Given the description of an element on the screen output the (x, y) to click on. 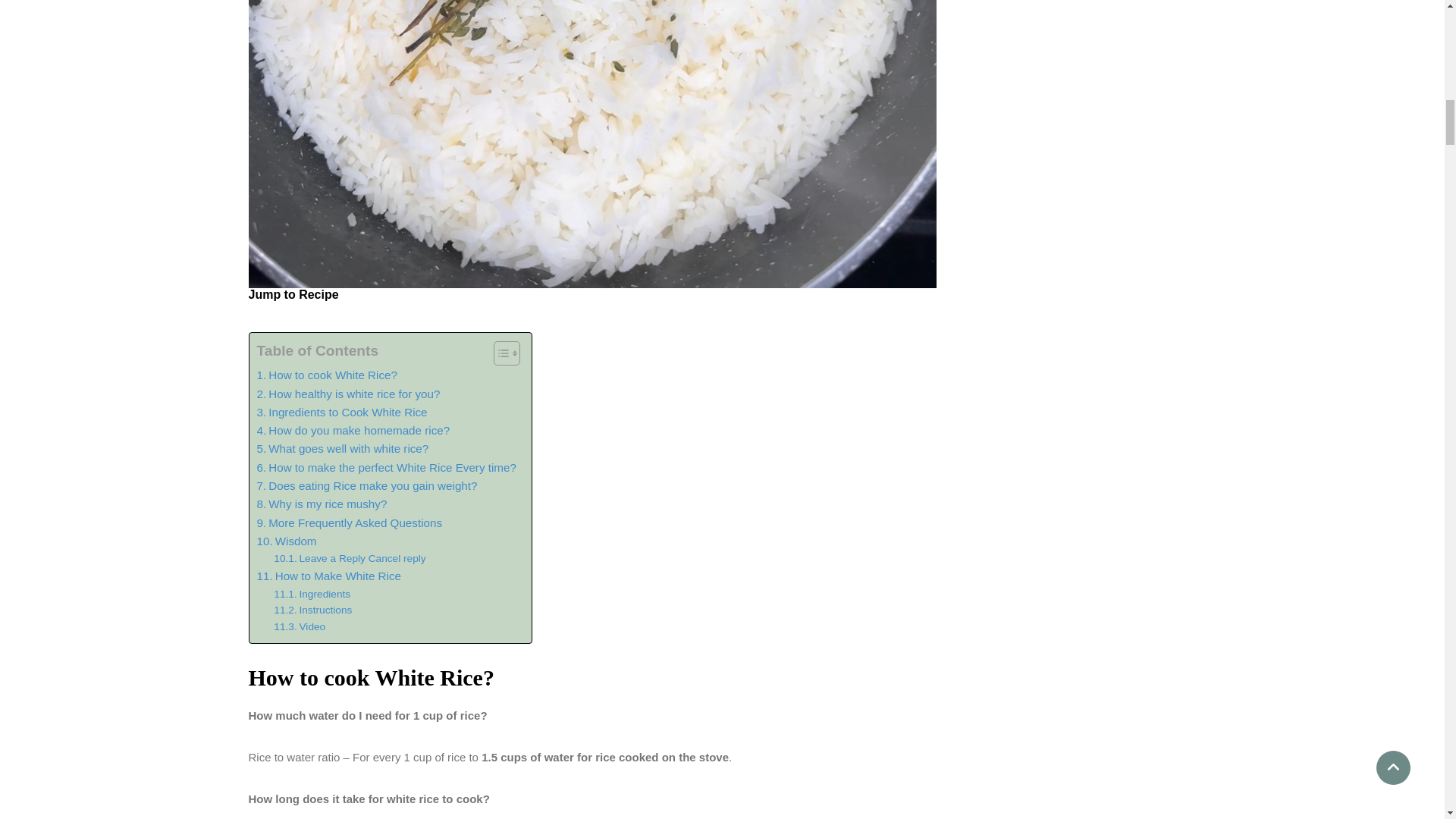
Ingredients to Cook White Rice (341, 412)
How do you make homemade rice? (352, 430)
Leave a Reply Cancel reply (349, 558)
Jump to Recipe (293, 294)
Why is my rice mushy? (321, 504)
How healthy is white rice for you? (347, 393)
More Frequently Asked Questions (349, 523)
Ingredients (311, 594)
How to cook White Rice? (326, 375)
How to cook White Rice? (326, 375)
How to make the perfect White Rice Every time? (385, 467)
Instructions (312, 610)
Wisdom (285, 541)
How to Make White Rice (328, 576)
How to Make White Rice (328, 576)
